Given the description of an element on the screen output the (x, y) to click on. 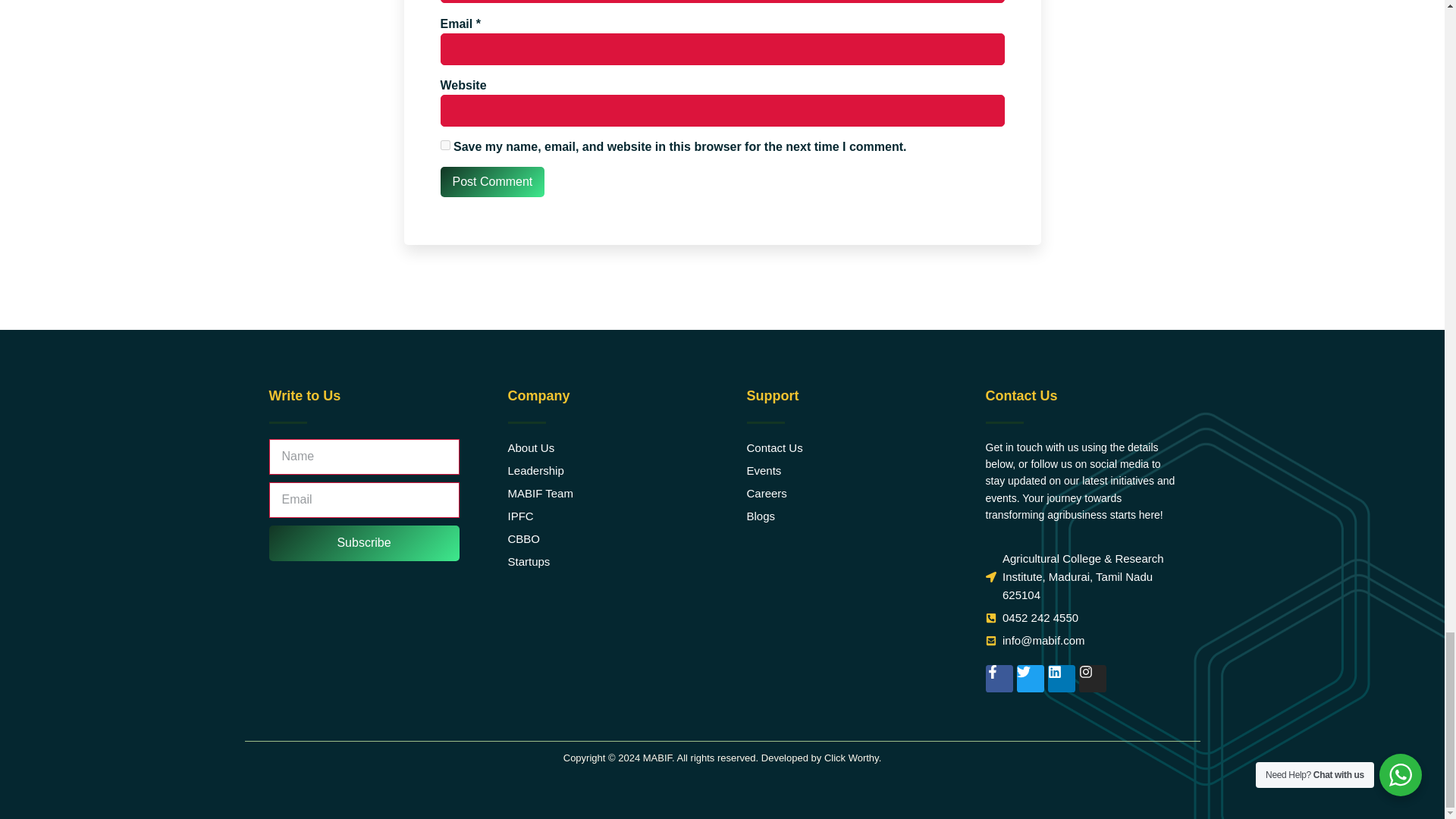
yes (444, 144)
Post Comment (491, 182)
